Given the description of an element on the screen output the (x, y) to click on. 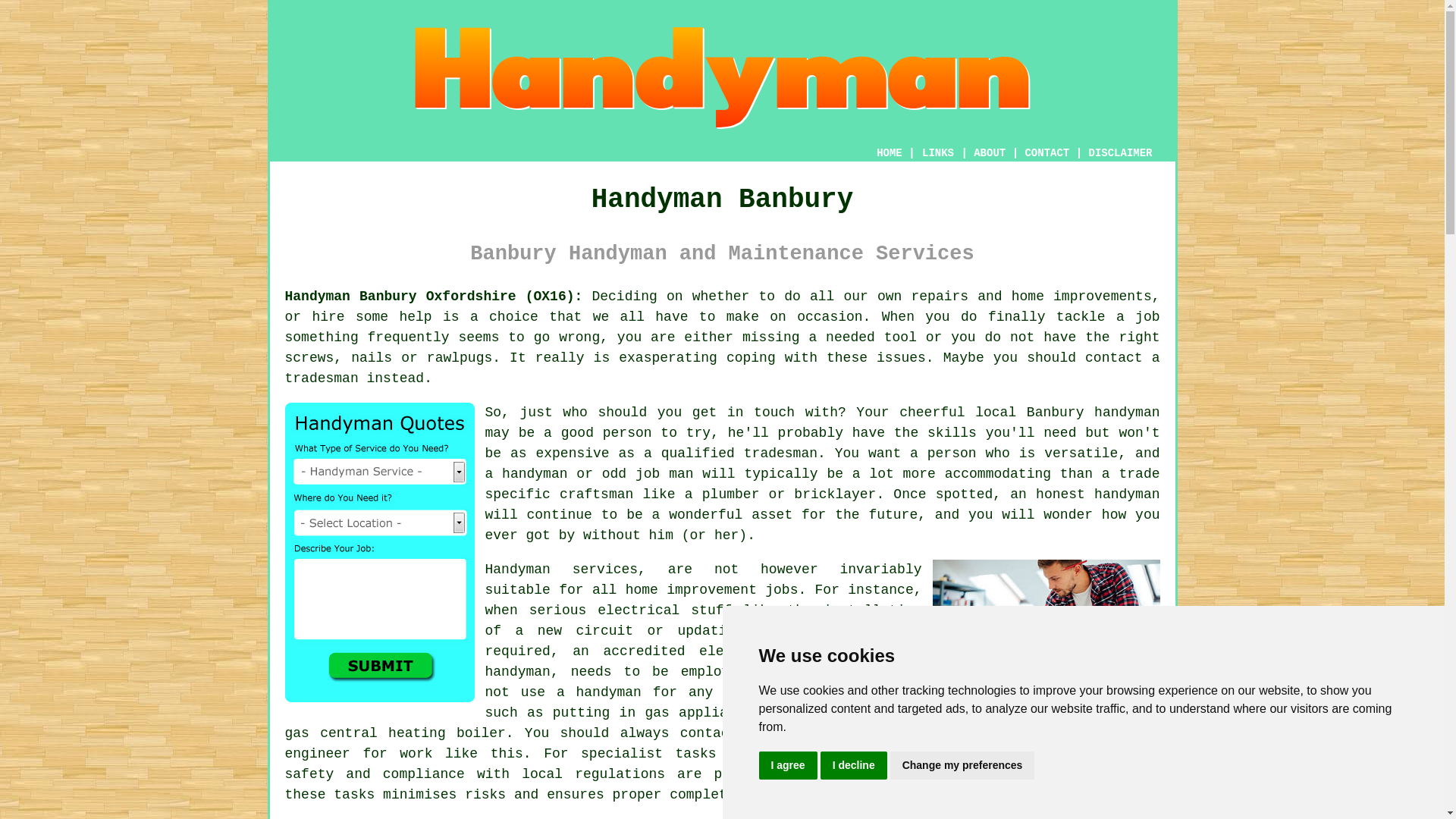
HOME (889, 152)
I decline (853, 765)
LINKS (938, 152)
handyman (1126, 494)
I agree (787, 765)
Change my preferences (962, 765)
